Given the description of an element on the screen output the (x, y) to click on. 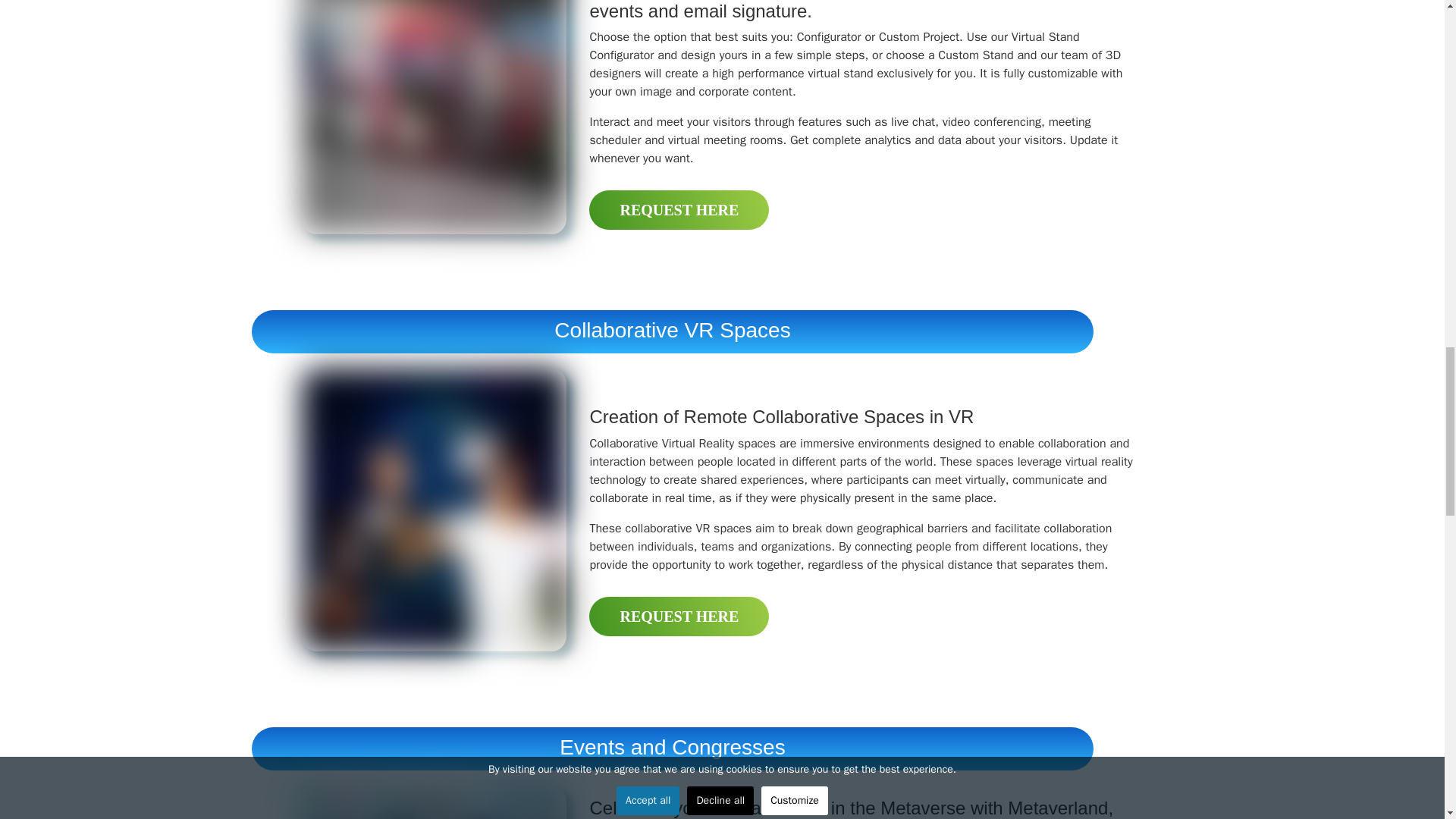
REQUEST HERE (678, 210)
REQUEST HERE (678, 616)
